Given the description of an element on the screen output the (x, y) to click on. 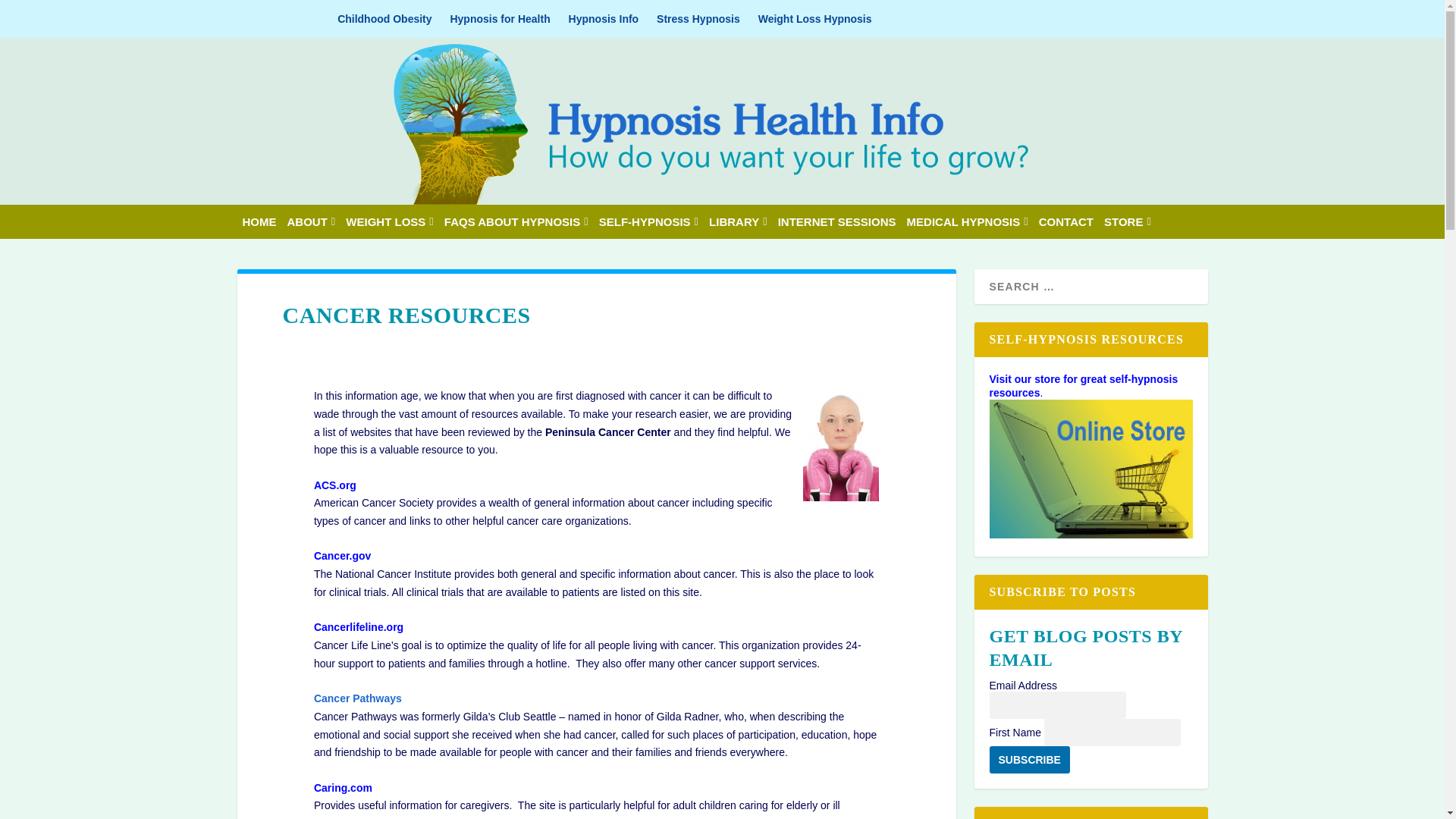
Childhood Obesity (383, 18)
Stress Hypnosis (697, 18)
Hypnosis for Health (499, 18)
ABOUT (310, 221)
HOME (259, 221)
SELF-HYPNOSIS (648, 221)
INTERNET SESSIONS (836, 221)
LIBRARY (738, 221)
WEIGHT LOSS (389, 221)
Subscribe (1028, 759)
MEDICAL HYPNOSIS (967, 221)
FAQS ABOUT HYPNOSIS (516, 221)
Weight Loss Hypnosis (815, 18)
Hypnosis Info (604, 18)
